Given the description of an element on the screen output the (x, y) to click on. 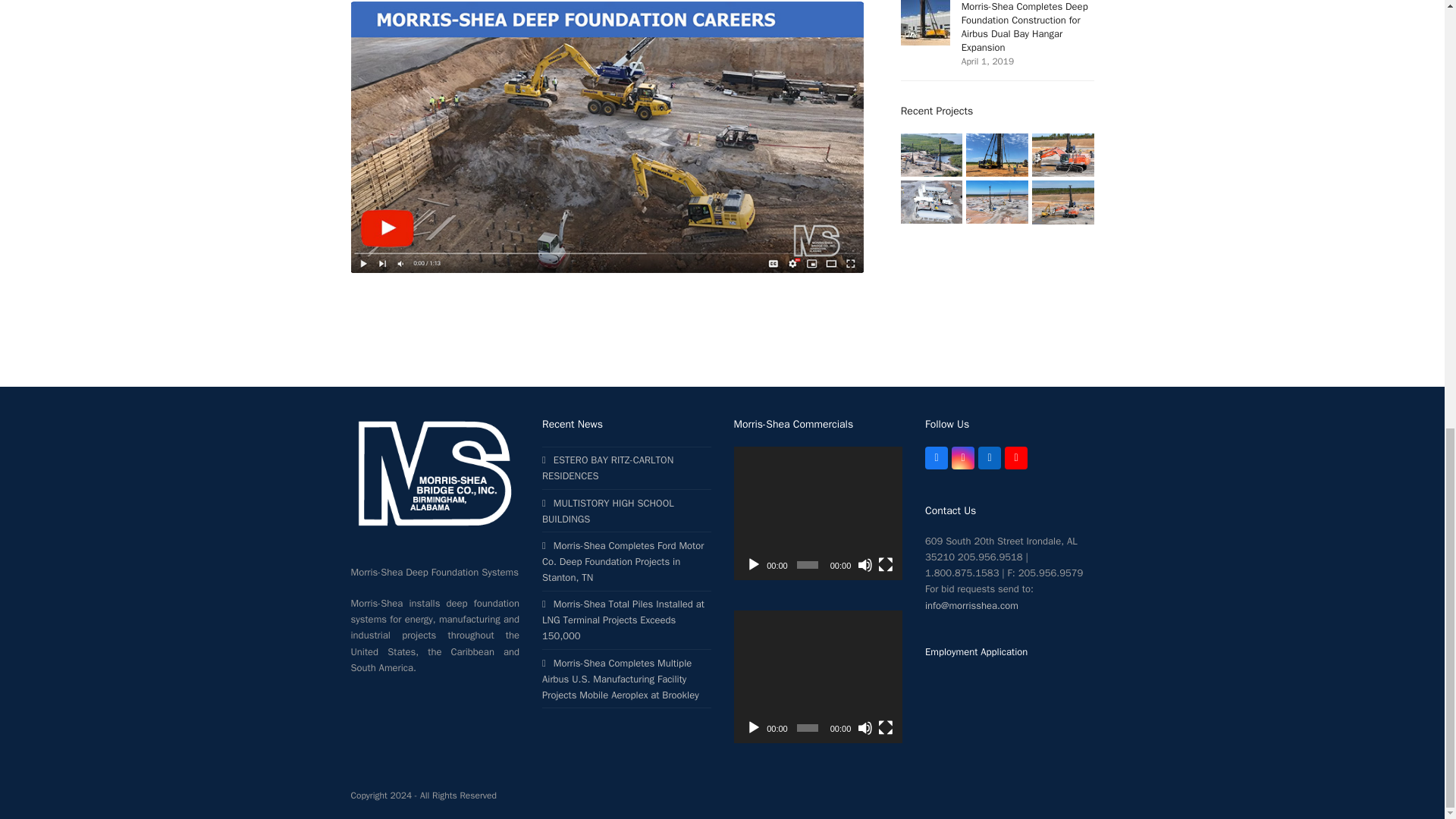
Morris-Shea soil mixing trencher (1063, 154)
Fullscreen (885, 564)
Morris-Shea drill rigs (996, 201)
Morris-Shea portable concrete plant (931, 201)
Play (753, 727)
Morris-Shea soil mixing trencher (1063, 201)
ESTERO BAY RITZ-CARLTON RESIDENCES (931, 154)
Play (753, 564)
Fullscreen (885, 727)
Mute (864, 564)
